Given the description of an element on the screen output the (x, y) to click on. 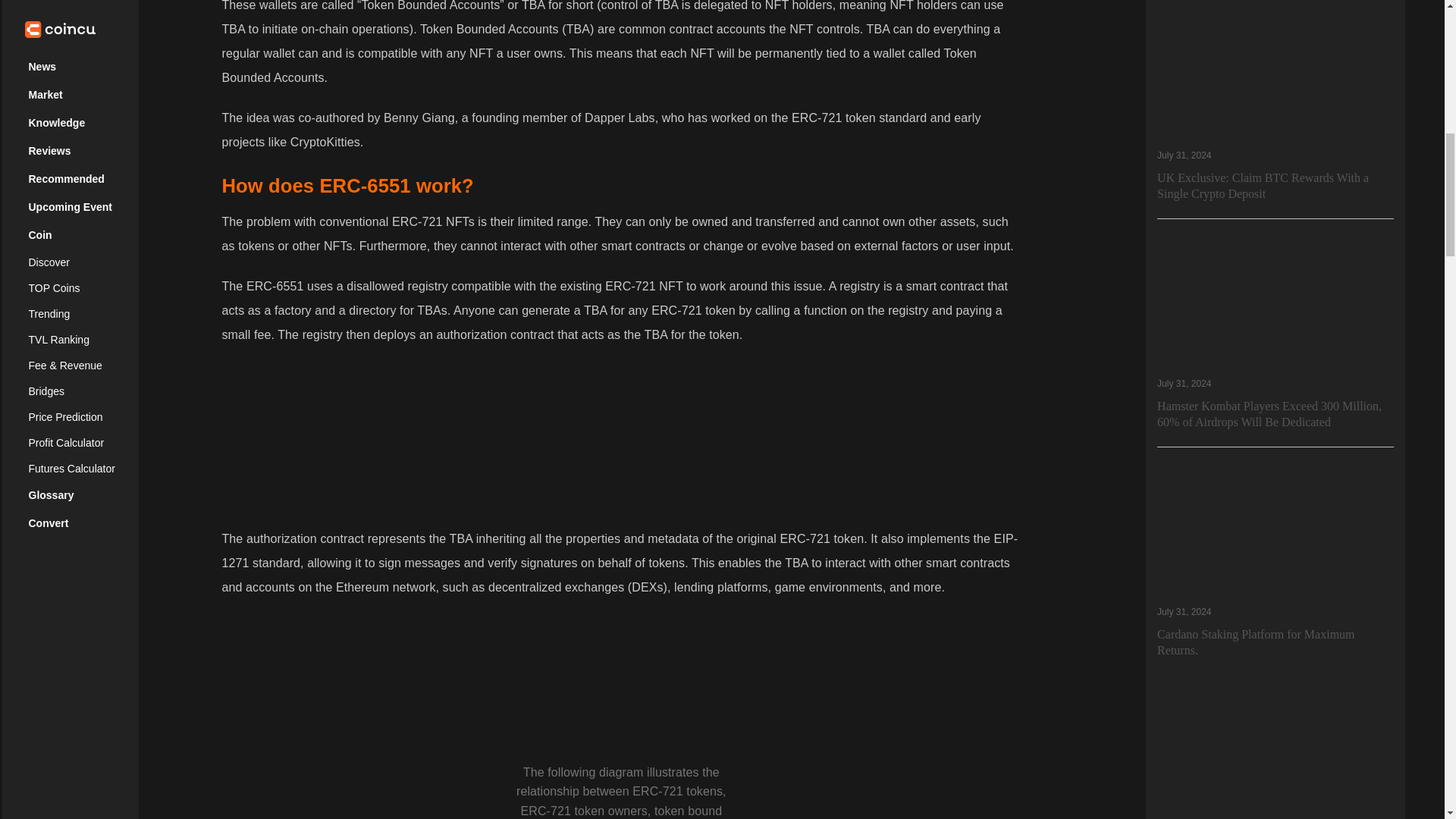
What Is ERC-6551? The New Standard For The NFT Revolution 3 (620, 683)
What Is ERC-6551? The New Standard For The NFT Revolution 2 (620, 434)
